Given the description of an element on the screen output the (x, y) to click on. 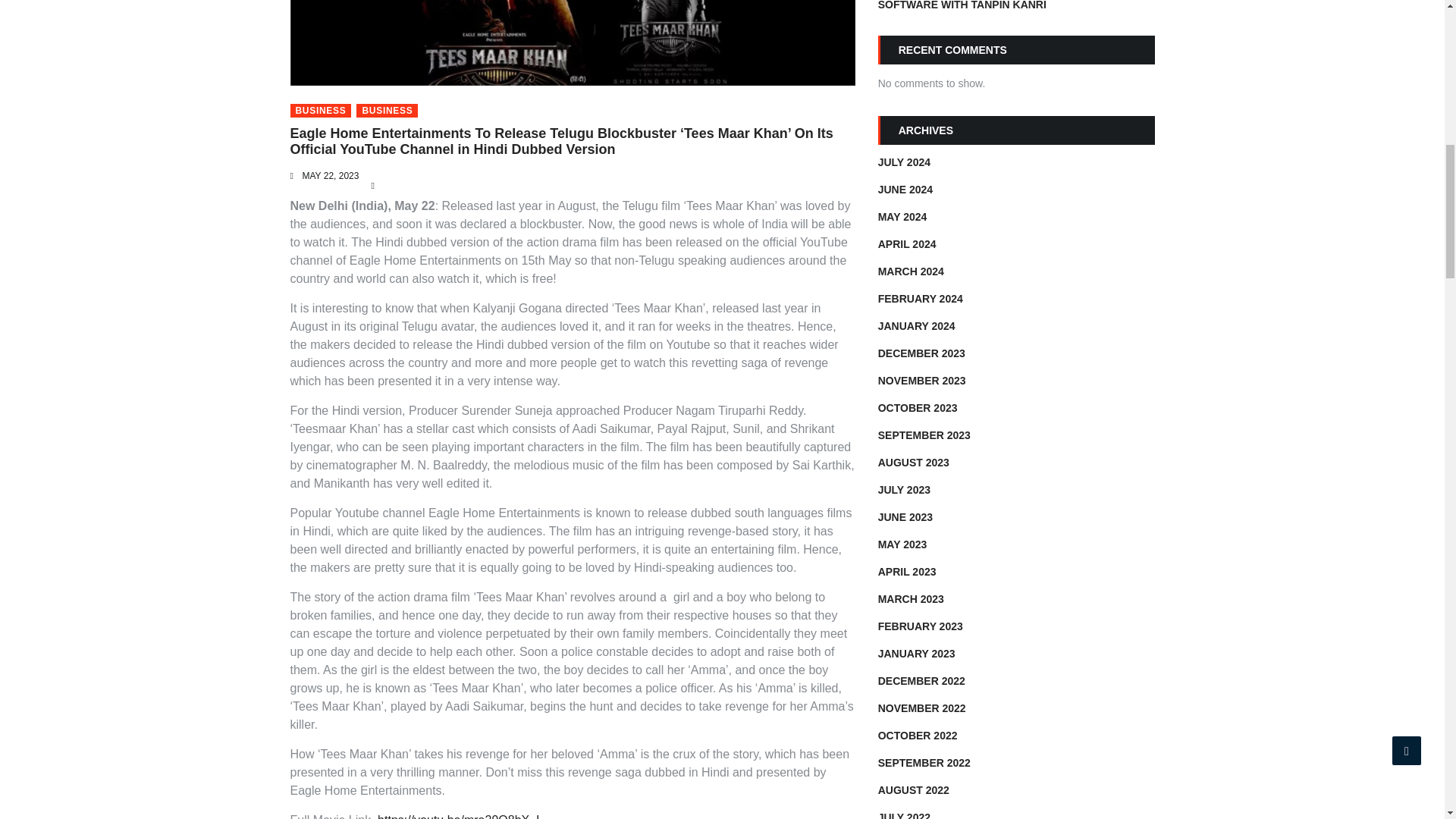
JULY 2024 (903, 162)
BUSINESS (386, 110)
BUSINESS (319, 110)
MAY 22, 2023 (329, 175)
